Given the description of an element on the screen output the (x, y) to click on. 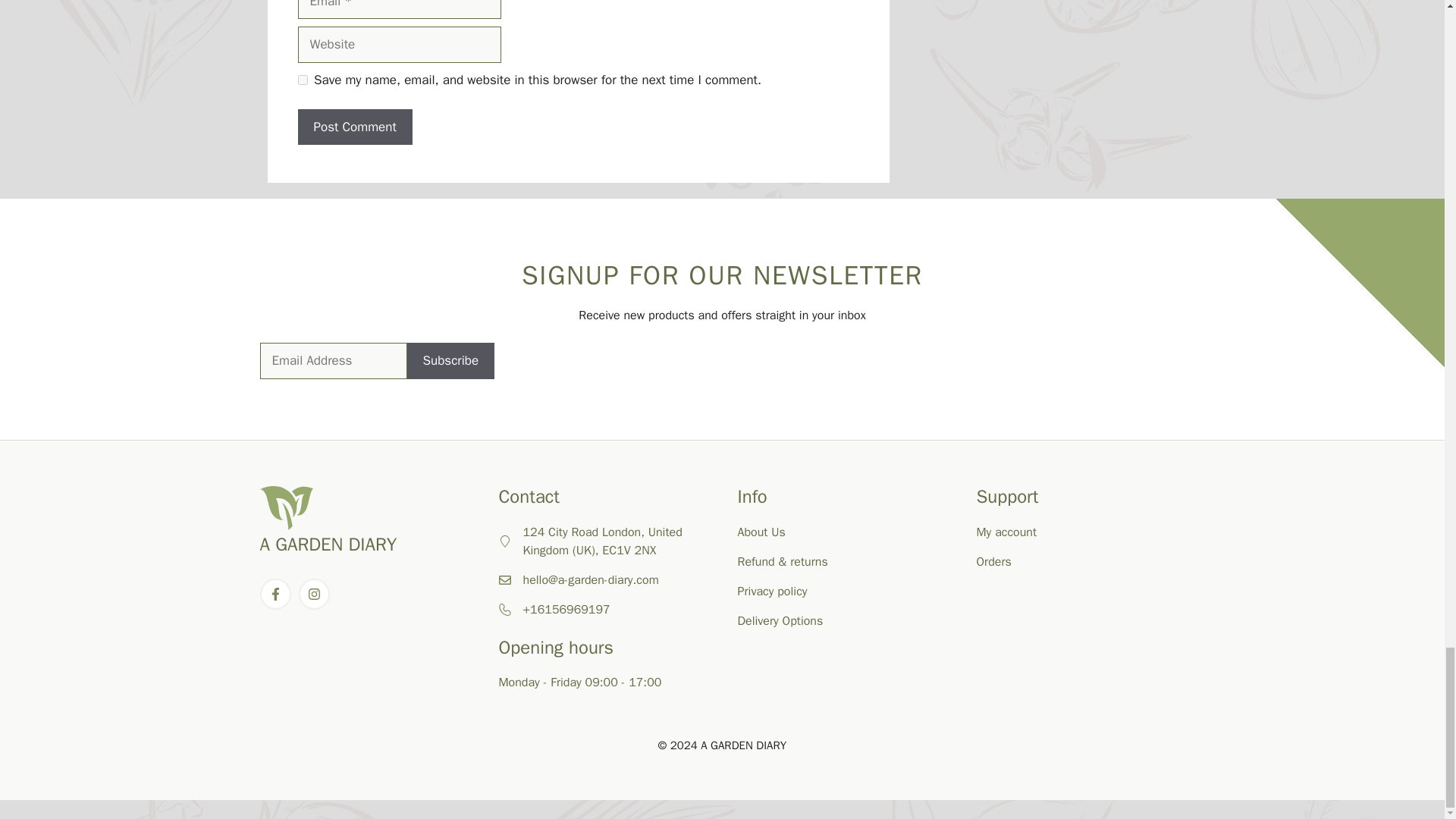
Post Comment (354, 126)
Orders (993, 560)
Post Comment (354, 126)
Subscribe (450, 361)
Privacy policy (771, 590)
yes (302, 80)
My account (1006, 531)
Subscribe (450, 361)
About Us (760, 531)
Botanist logo (286, 507)
Delivery Options (779, 620)
